Given the description of an element on the screen output the (x, y) to click on. 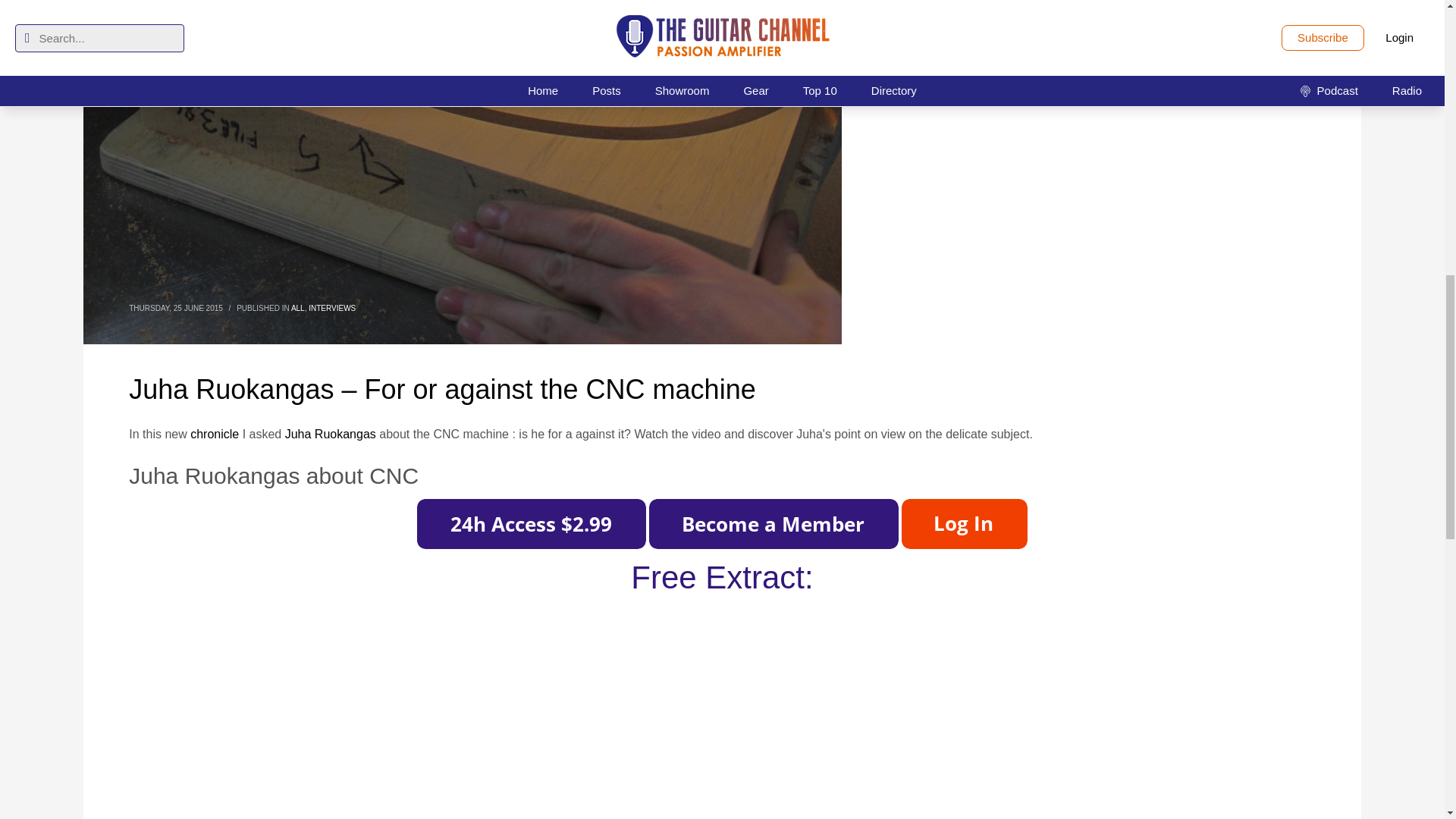
Become a member to access the full catalog of videos (773, 523)
ALL (297, 307)
Juha Ruokangas (330, 433)
Full access for 24h to all the videos (531, 523)
chronicle (214, 433)
Already a member? Log in to access the full video! (964, 523)
INTERVIEWS (331, 307)
